Given the description of an element on the screen output the (x, y) to click on. 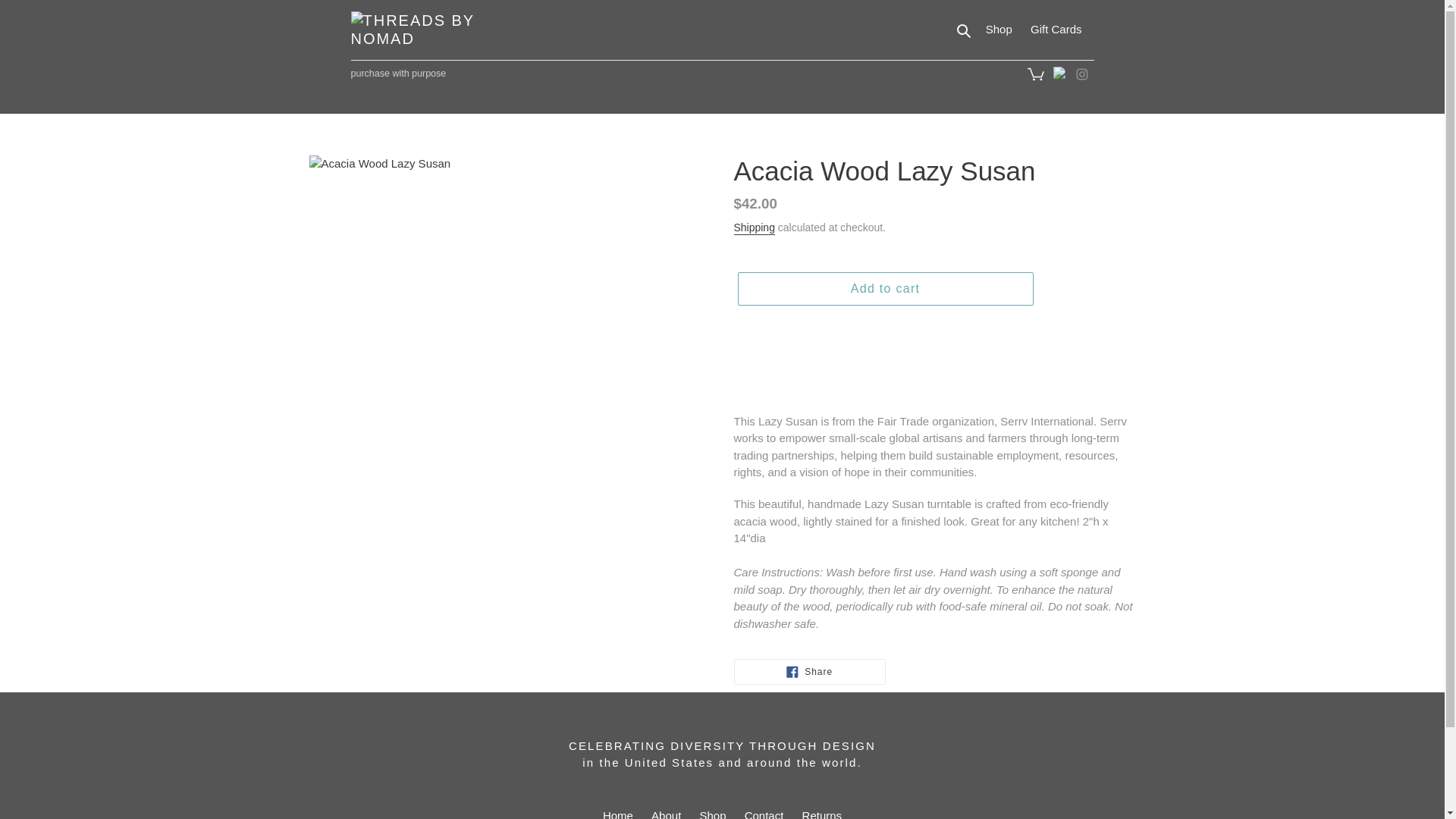
Search (965, 29)
Shop (712, 812)
0 (1034, 73)
Shop (999, 29)
Home (809, 671)
Gift Cards (617, 812)
Add to cart (1056, 29)
Contact (884, 288)
About (764, 812)
